Given the description of an element on the screen output the (x, y) to click on. 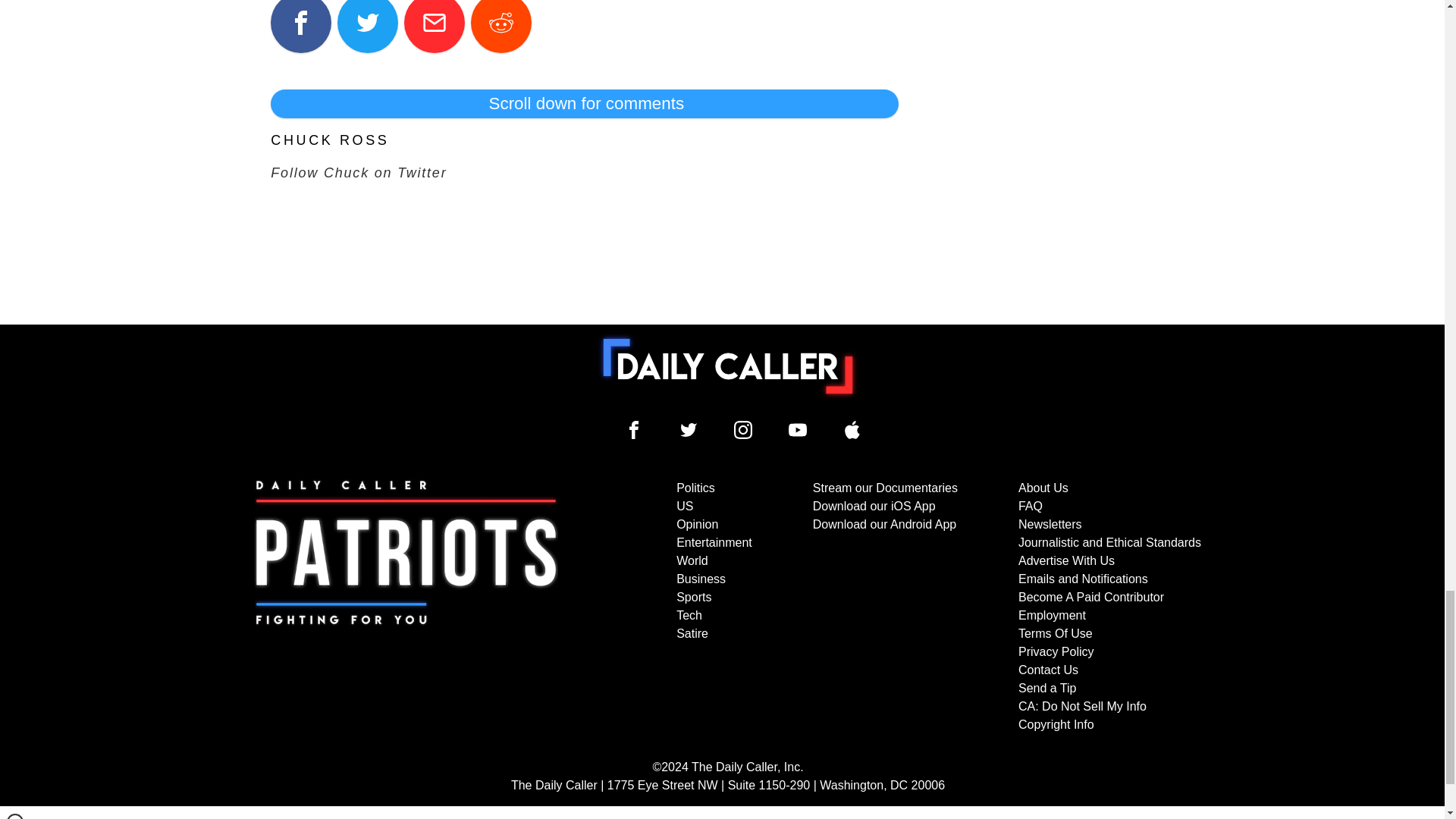
Daily Caller YouTube (852, 429)
Daily Caller Twitter (688, 429)
Scroll down for comments (584, 103)
Daily Caller YouTube (797, 429)
Subscribe to The Daily Caller (405, 606)
Daily Caller Facebook (633, 429)
Daily Caller Instagram (742, 429)
To home page (727, 366)
